Given the description of an element on the screen output the (x, y) to click on. 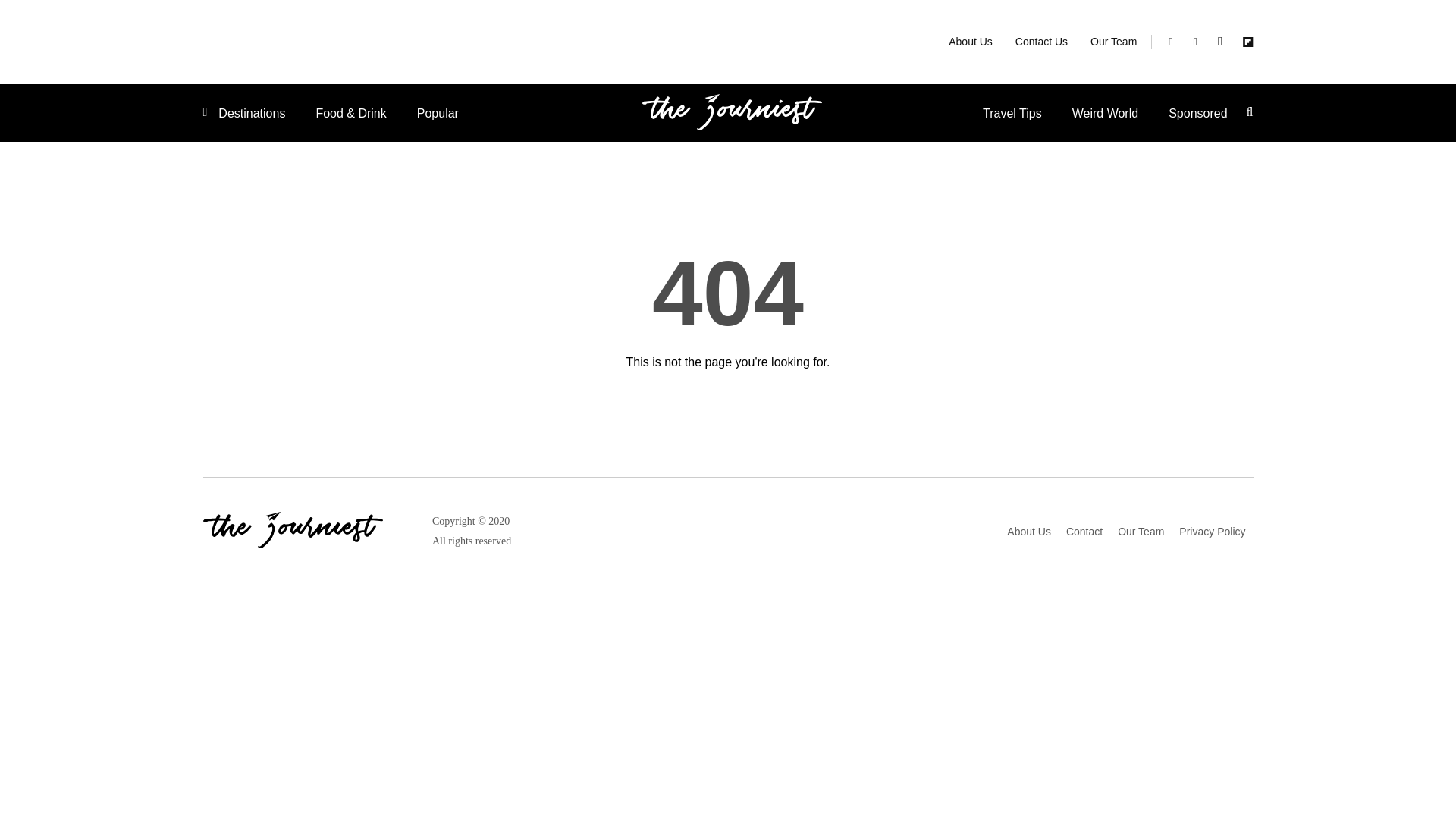
About Us (970, 41)
Our Team (1113, 41)
About Us (1028, 531)
Popular (422, 113)
Our Team (1140, 531)
Travel Tips (1026, 113)
Weird World (1120, 113)
Contact Us (1041, 41)
Destinations (251, 113)
Contact (1083, 531)
